Given the description of an element on the screen output the (x, y) to click on. 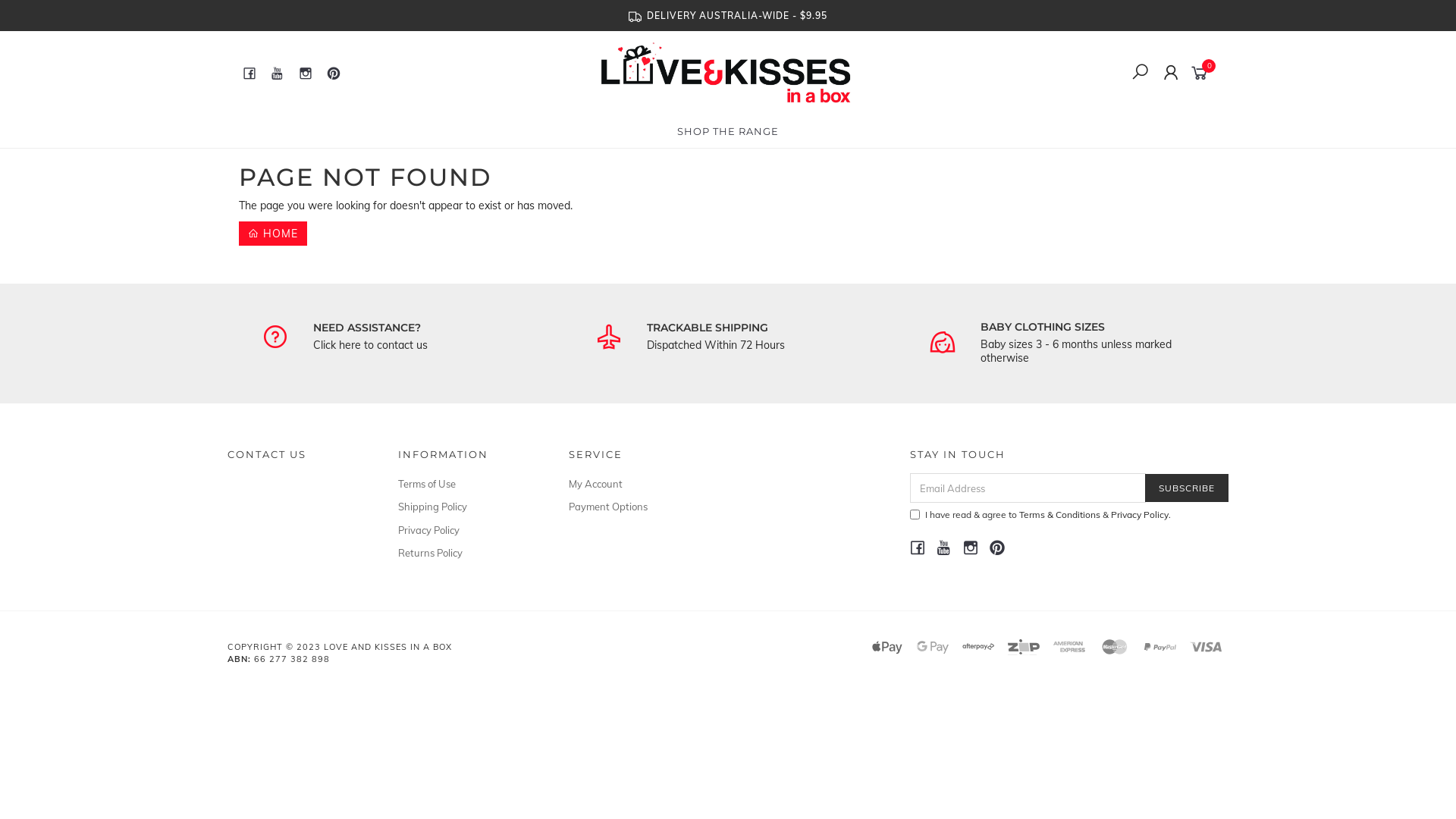
SHOP THE RANGE Element type: text (727, 130)
My Account Element type: text (636, 483)
Love and Kisses in a Box Element type: hover (725, 71)
NEED ASSISTANCE?
Click here to contact us Element type: text (426, 336)
Returns Policy Element type: text (466, 552)
TRACKABLE SHIPPING
Dispatched Within 72 Hours Element type: text (759, 336)
HOME Element type: text (272, 233)
Terms & Conditions Element type: text (1059, 514)
0 Element type: text (1202, 71)
Shipping Policy Element type: text (466, 506)
DELIVERY AUSTRALIA-WIDE - $9.95 Element type: text (727, 15)
Privacy Policy Element type: text (466, 529)
Subscribe Element type: text (1186, 487)
Payment Options Element type: text (636, 506)
Privacy Policy Element type: text (1139, 514)
Terms of Use Element type: text (466, 483)
